Given the description of an element on the screen output the (x, y) to click on. 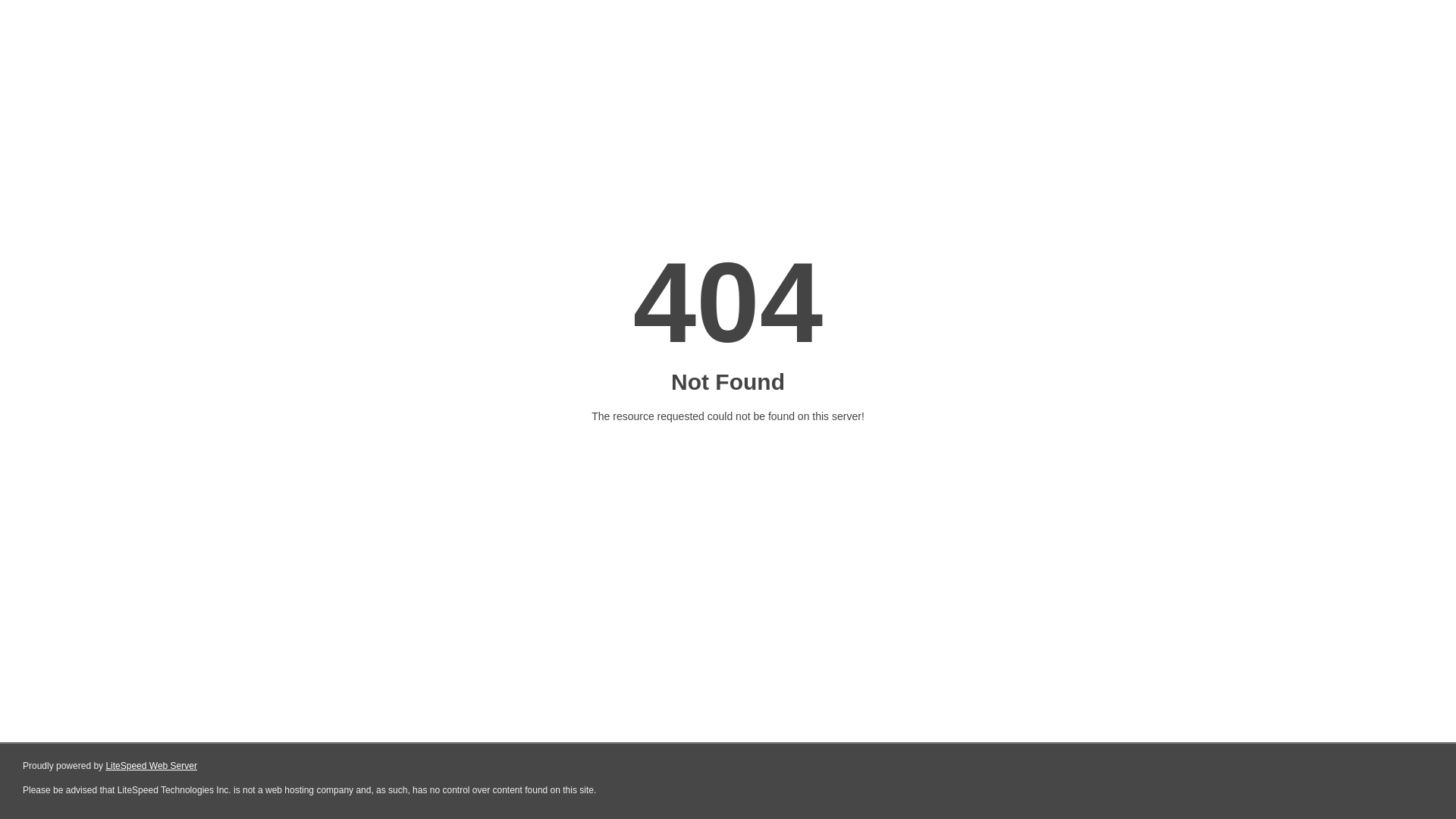
LiteSpeed Web Server Element type: text (151, 765)
